Given the description of an element on the screen output the (x, y) to click on. 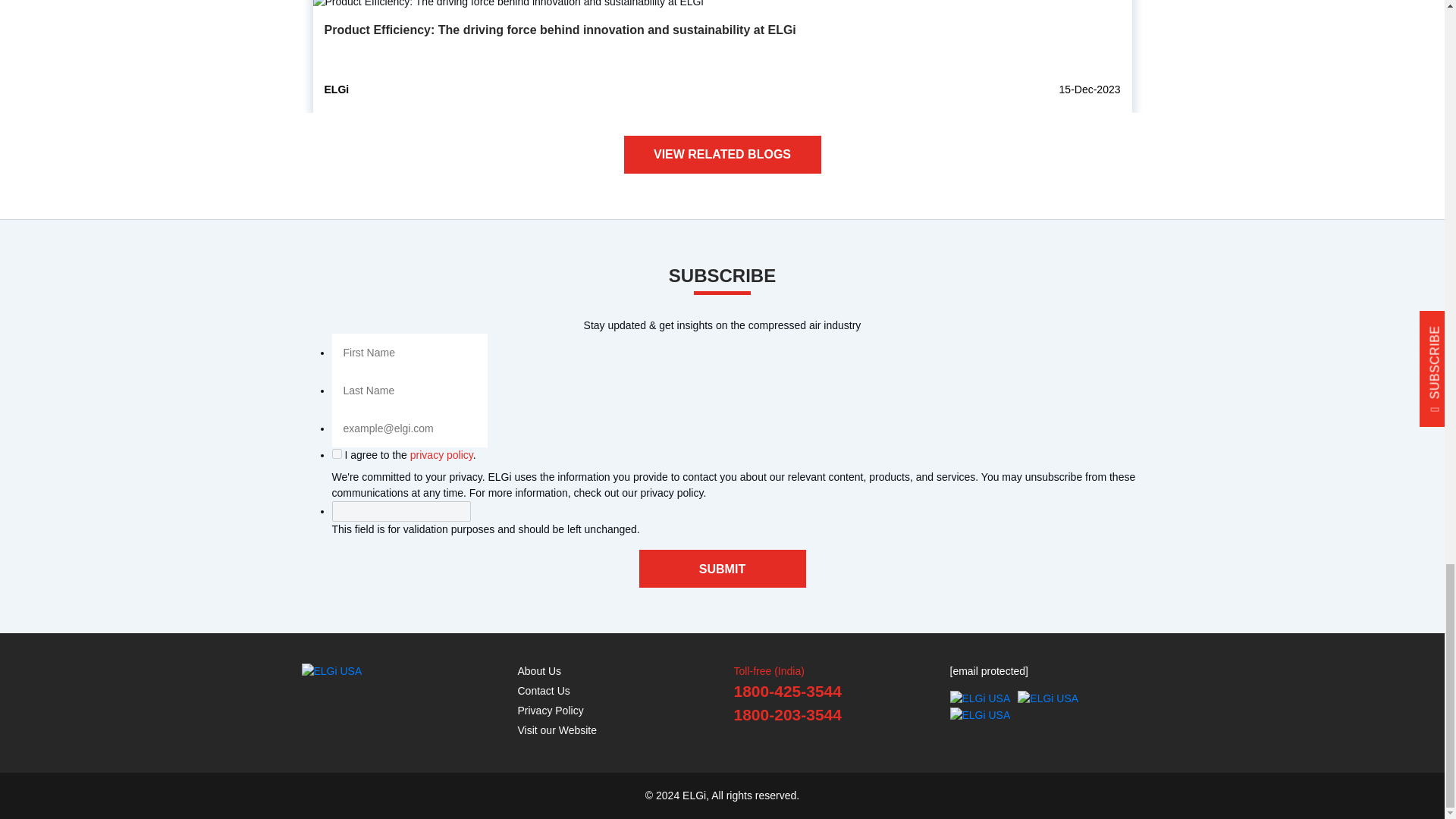
About Us (538, 671)
Submit (722, 568)
ELGi USA (979, 715)
VIEW RELATED BLOGS (722, 154)
Submit (722, 568)
Visit our Website (556, 729)
ELGi USA (1047, 698)
ELGi USA (979, 698)
privacy policy (441, 454)
Contact Us (542, 690)
ELGi USA (331, 671)
Privacy Policy (549, 710)
1 (336, 453)
